Given the description of an element on the screen output the (x, y) to click on. 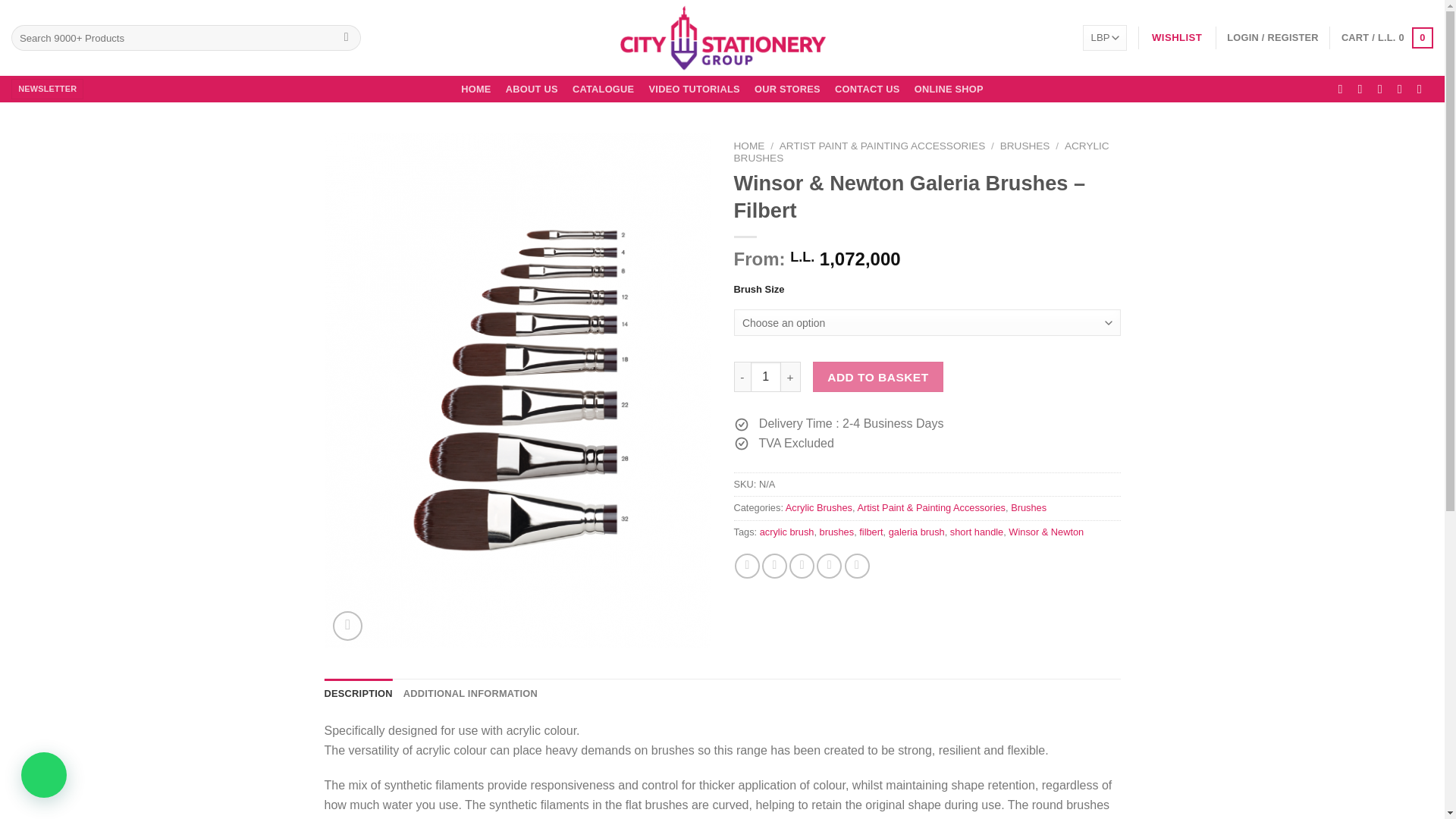
1 (765, 376)
WISHLIST (1177, 37)
ADD TO BASKET (877, 376)
Login (1273, 37)
OUR STORES (786, 88)
Search (345, 37)
VIDEO TUTORIALS (694, 88)
ABOUT US (530, 88)
ACRYLIC BRUSHES (921, 151)
Share on Twitter (774, 565)
Zoom (347, 625)
BRUSHES (1024, 145)
Acrylic Brushes (818, 507)
Cart (1386, 37)
ONLINE SHOP (948, 88)
